Given the description of an element on the screen output the (x, y) to click on. 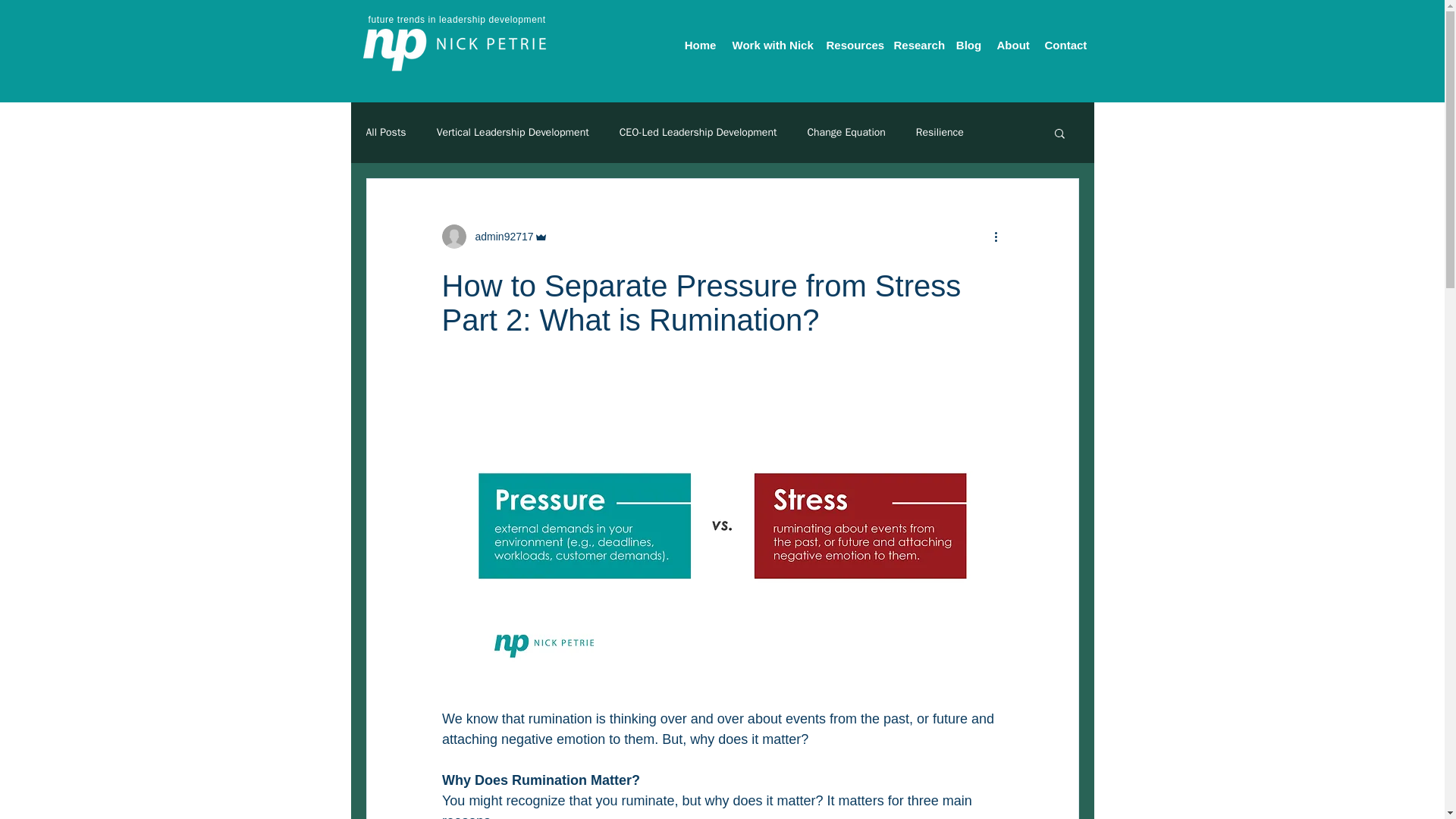
Resilience (939, 132)
Work with Nick (771, 44)
Blog (967, 44)
Vertical Leadership Development (512, 132)
Contact (1065, 44)
CEO-Led Leadership Development (698, 132)
admin92717 (498, 236)
About (1012, 44)
Home (701, 44)
Resources (852, 44)
